Given the description of an element on the screen output the (x, y) to click on. 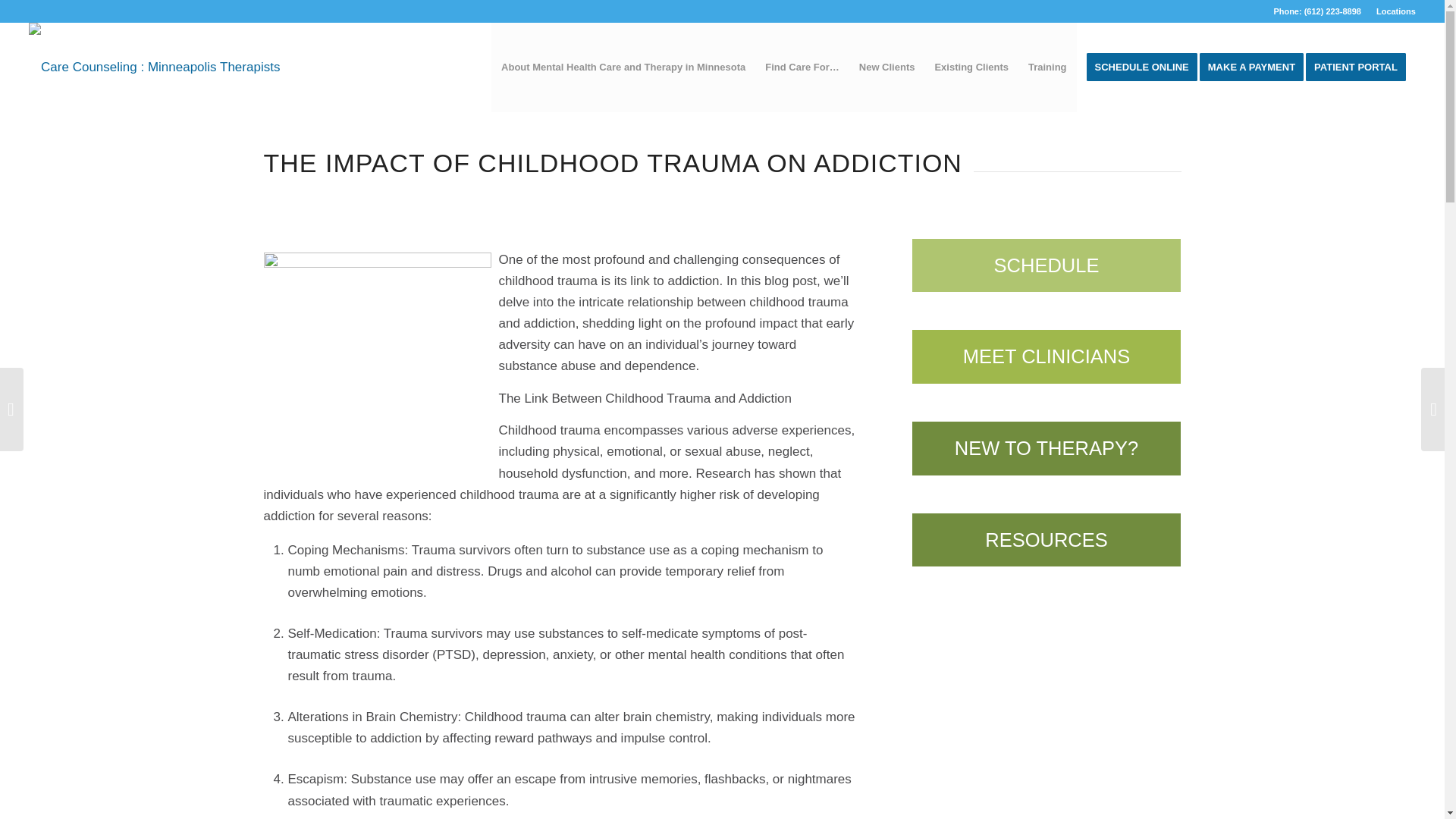
About Mental Health Care and Therapy in Minnesota (623, 67)
Locations (1395, 11)
Existing Clients (970, 67)
